Given the description of an element on the screen output the (x, y) to click on. 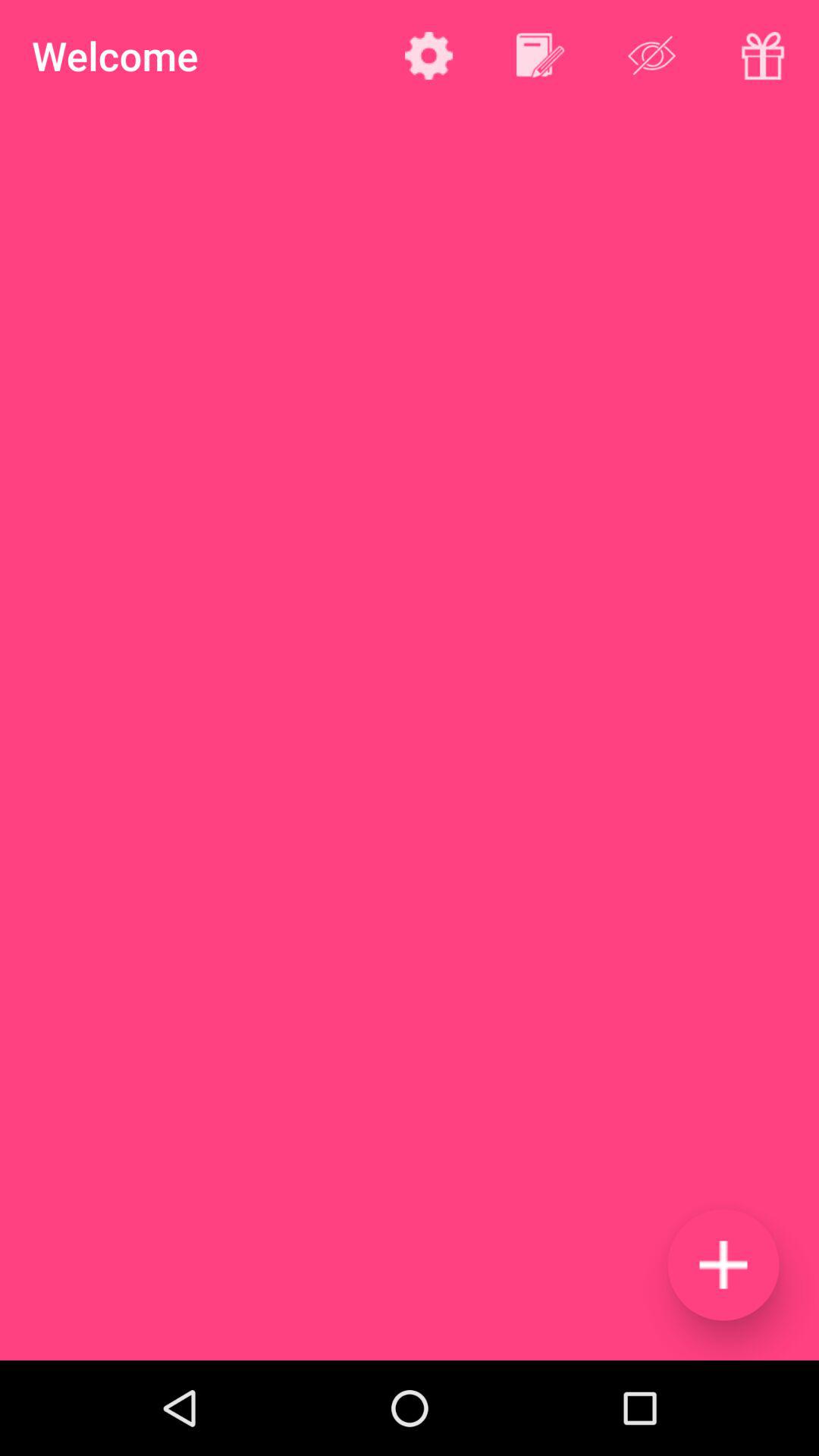
add notes (540, 55)
